Given the description of an element on the screen output the (x, y) to click on. 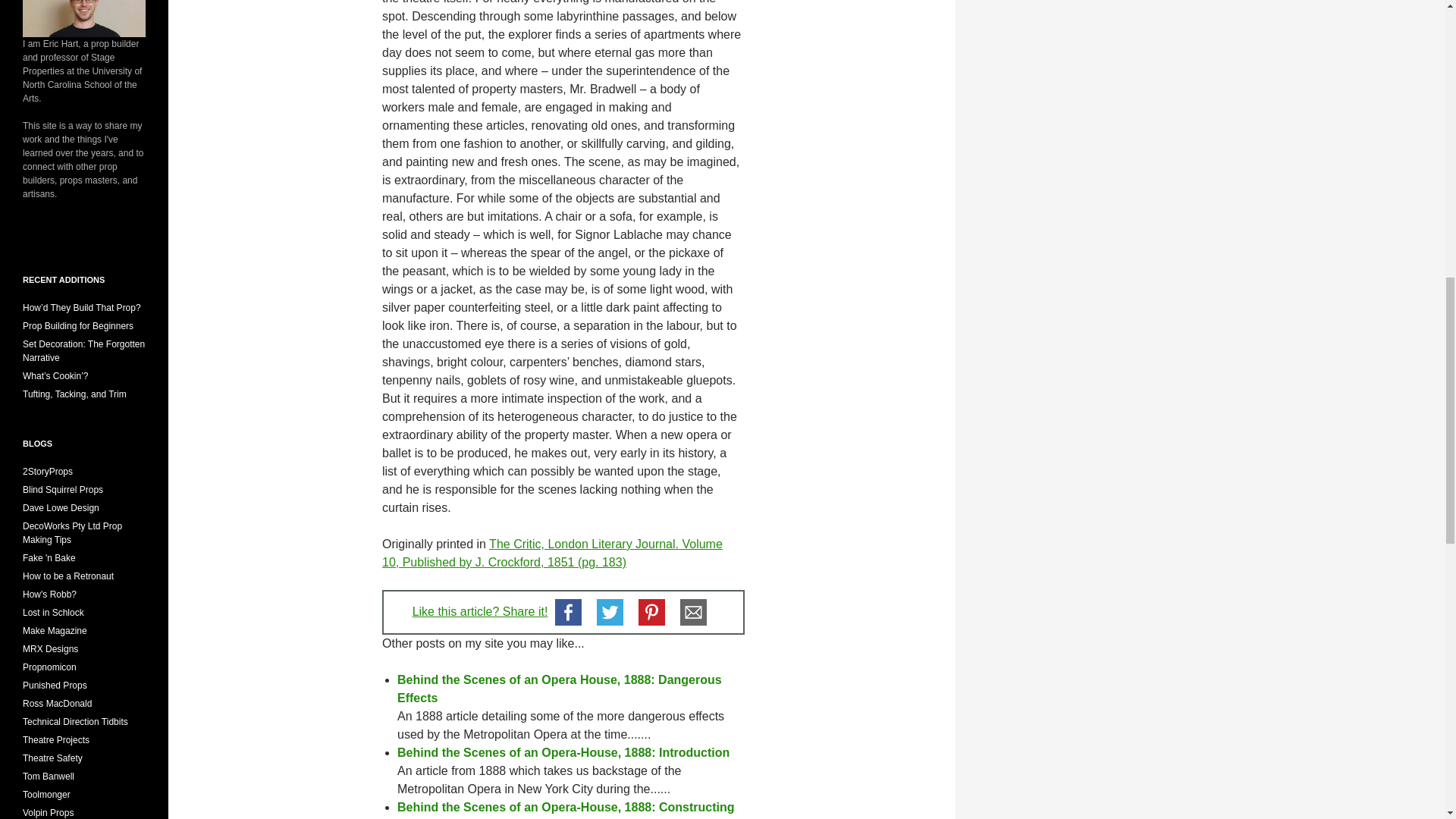
Like this article? Share it! (480, 611)
Behind the Scenes of an Opera House, 1888: Dangerous Effects (559, 688)
pinterest (651, 612)
facebook (568, 612)
Behind the Scenes of an Opera-House, 1888: Introduction (563, 752)
email (693, 612)
read it on Google Books (551, 552)
twitter (609, 612)
Behind the Scenes of an Opera-House, 1888: Introduction (563, 752)
Behind the Scenes of an Opera House, 1888: Dangerous Effects (559, 688)
Set Decoration: The Forgotten Narrative (83, 351)
Tufting, Tacking, and Trim (74, 394)
Prop Building for Beginners (78, 326)
